Given the description of an element on the screen output the (x, y) to click on. 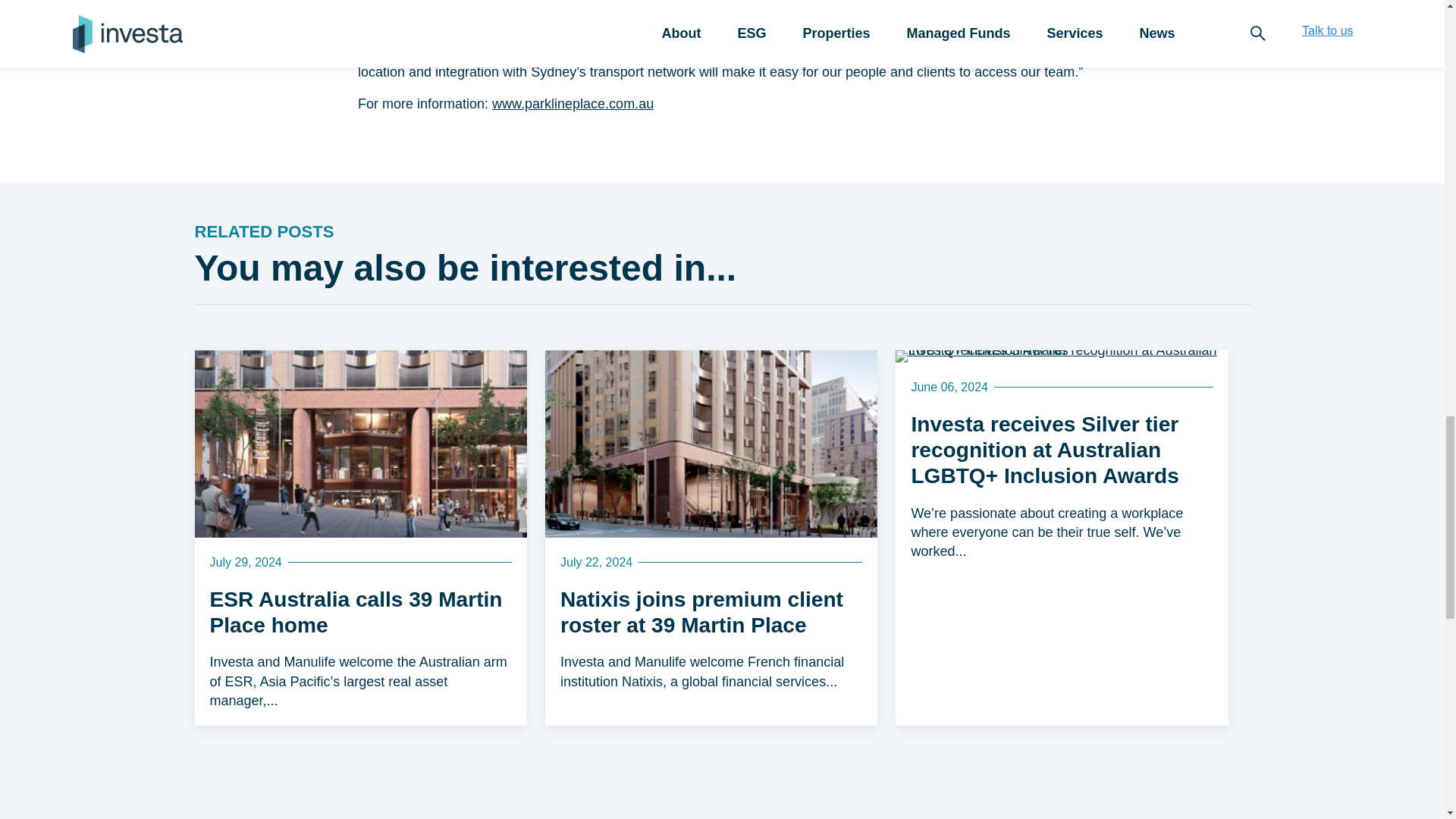
ESR Australia calls 39 Martin Place home (359, 443)
Natixis joins premium client roster at 39 Martin Place (710, 443)
